Given the description of an element on the screen output the (x, y) to click on. 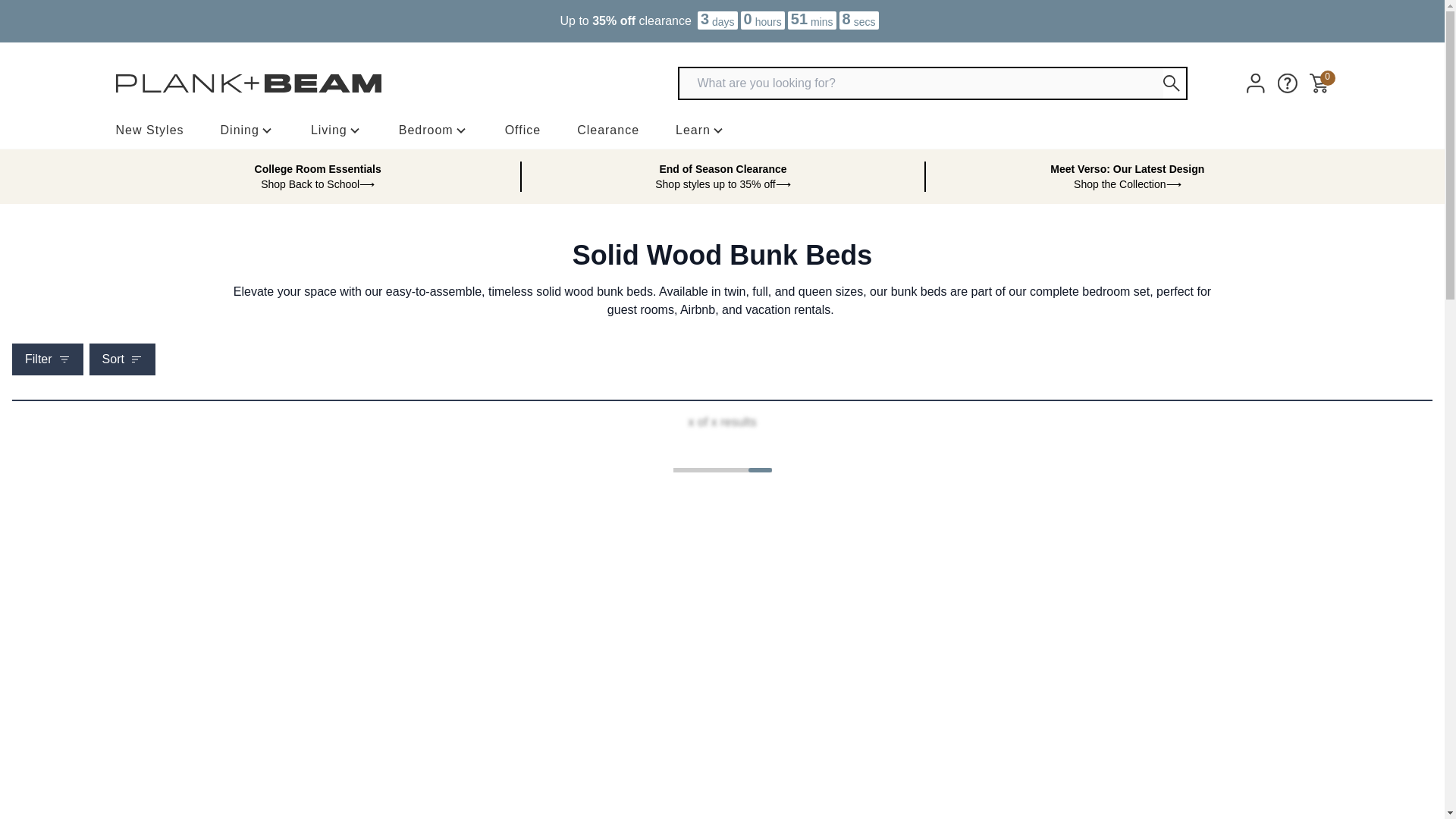
Dining (248, 130)
Living (336, 130)
Clearance (607, 130)
Filter (46, 359)
Learn (700, 130)
Office (523, 130)
Bedroom (433, 130)
New Styles (149, 130)
0 (1317, 83)
Sort (121, 359)
